Given the description of an element on the screen output the (x, y) to click on. 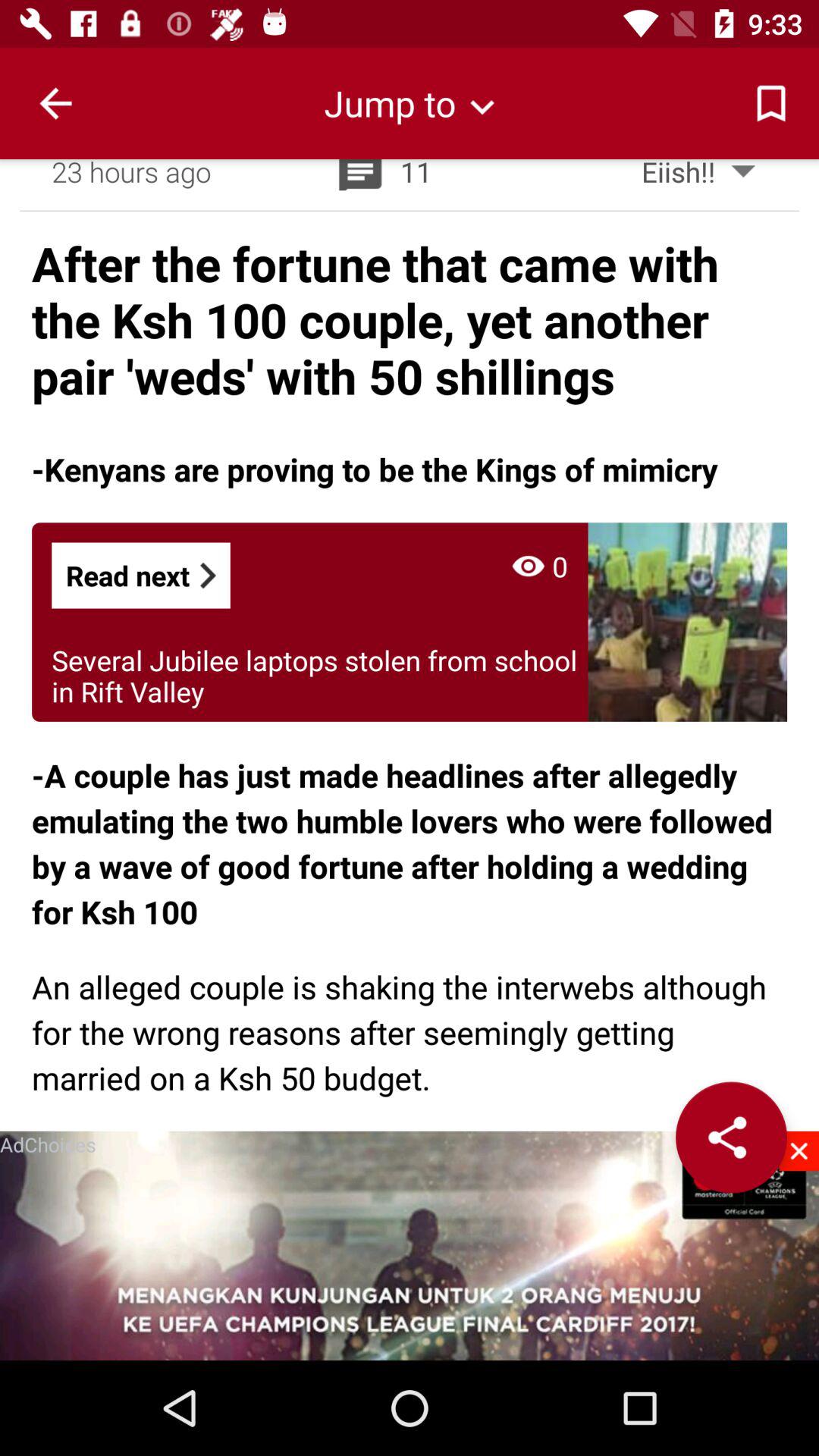
turn off item below the a couple has app (409, 1032)
